Given the description of an element on the screen output the (x, y) to click on. 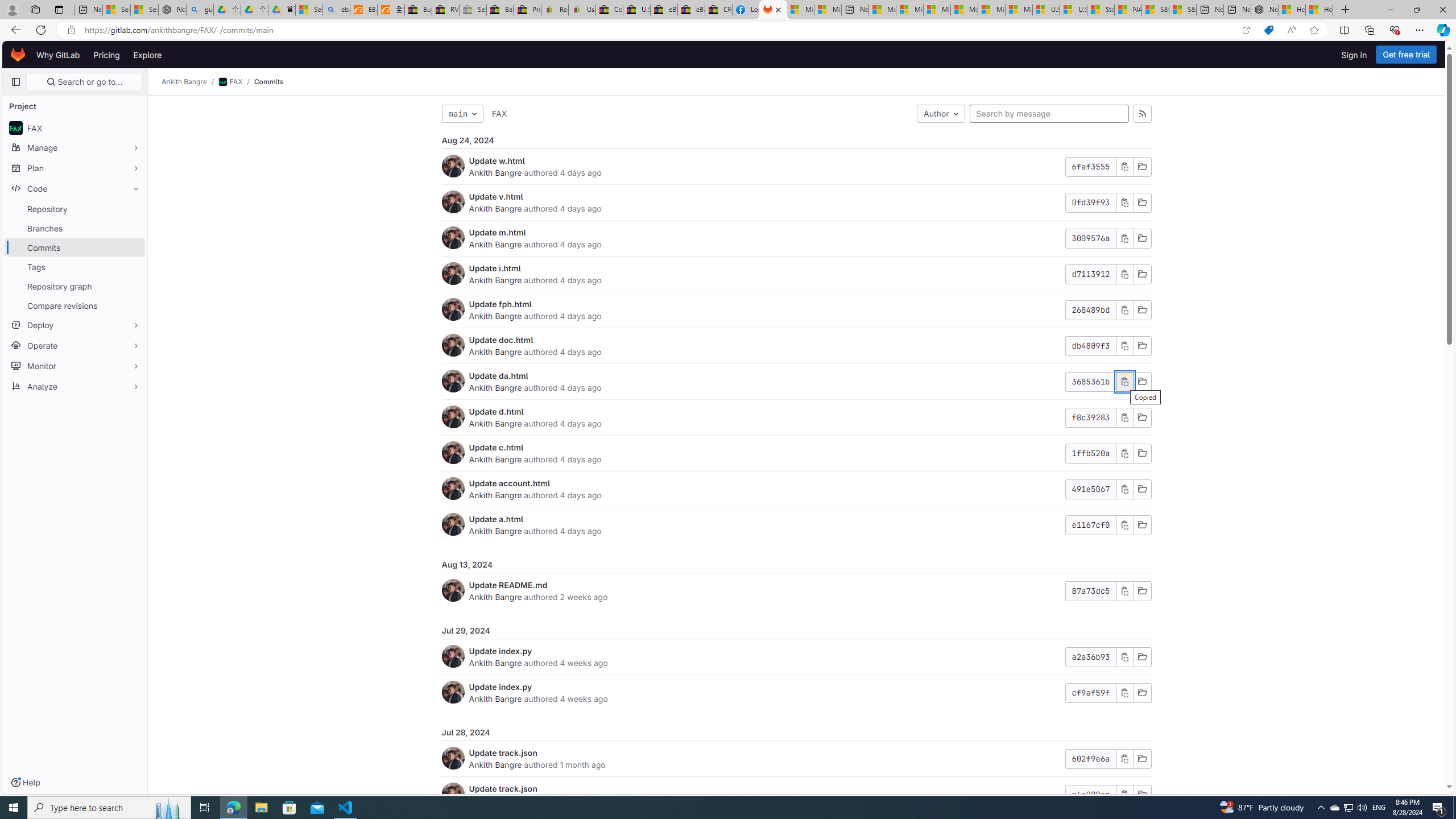
Update d.html (496, 411)
Commits feed (1141, 113)
Update account.html (509, 483)
Repository graph (74, 285)
Update index.pyAnkith Bangre authored 4 weeks agocf9af59f (796, 692)
Update a.htmlAnkith Bangre authored 4 days agoe1167cf0 (796, 524)
Help (25, 782)
Commits (268, 81)
Update index.py (500, 686)
Class: s16 gl-icon gl-button-icon  (1124, 794)
